Given the description of an element on the screen output the (x, y) to click on. 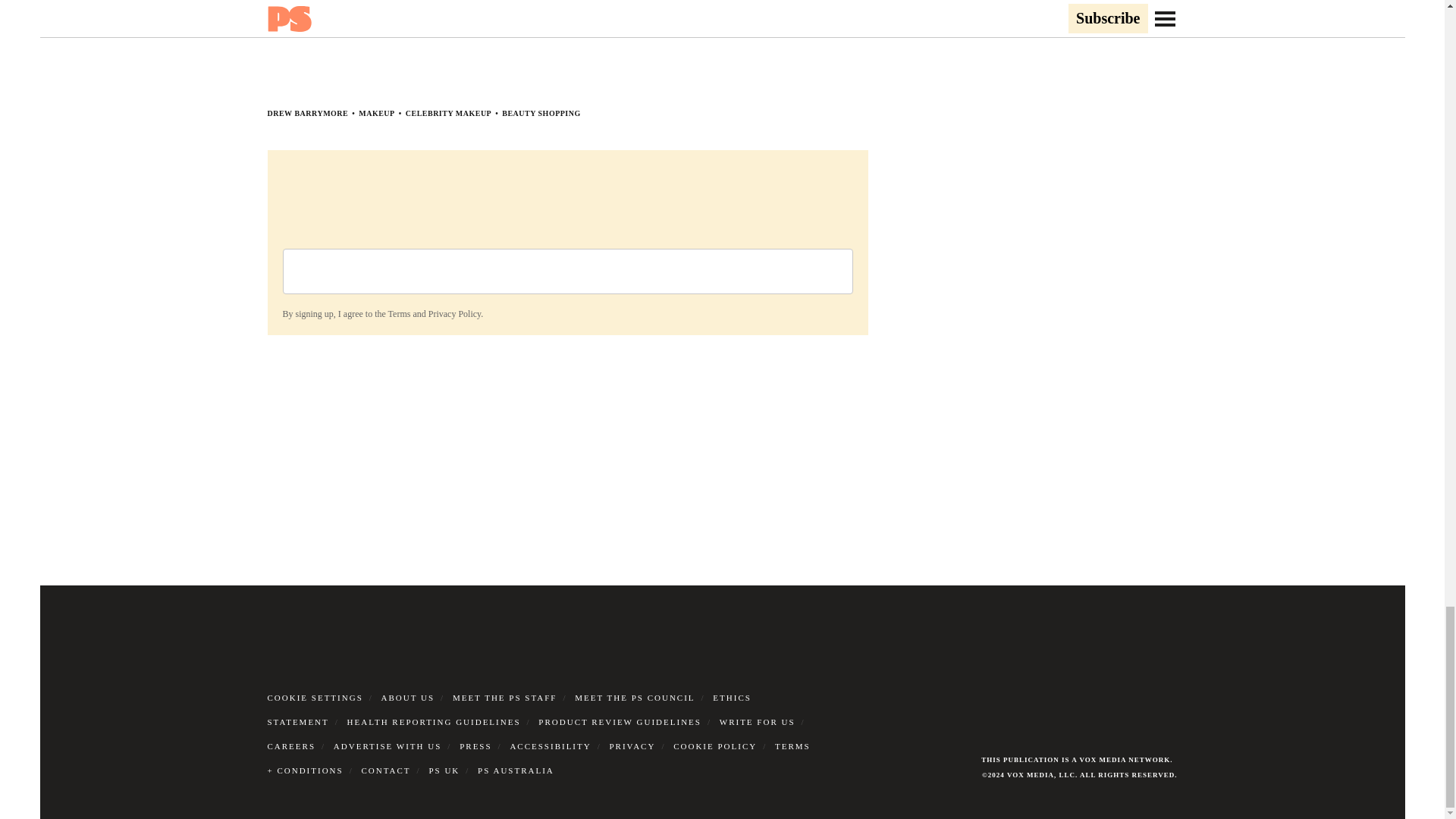
Privacy Policy. (455, 313)
MAKEUP (376, 112)
DREW BARRYMORE (306, 112)
Terms (399, 313)
CELEBRITY MAKEUP (449, 112)
BEAUTY SHOPPING (541, 112)
